Given the description of an element on the screen output the (x, y) to click on. 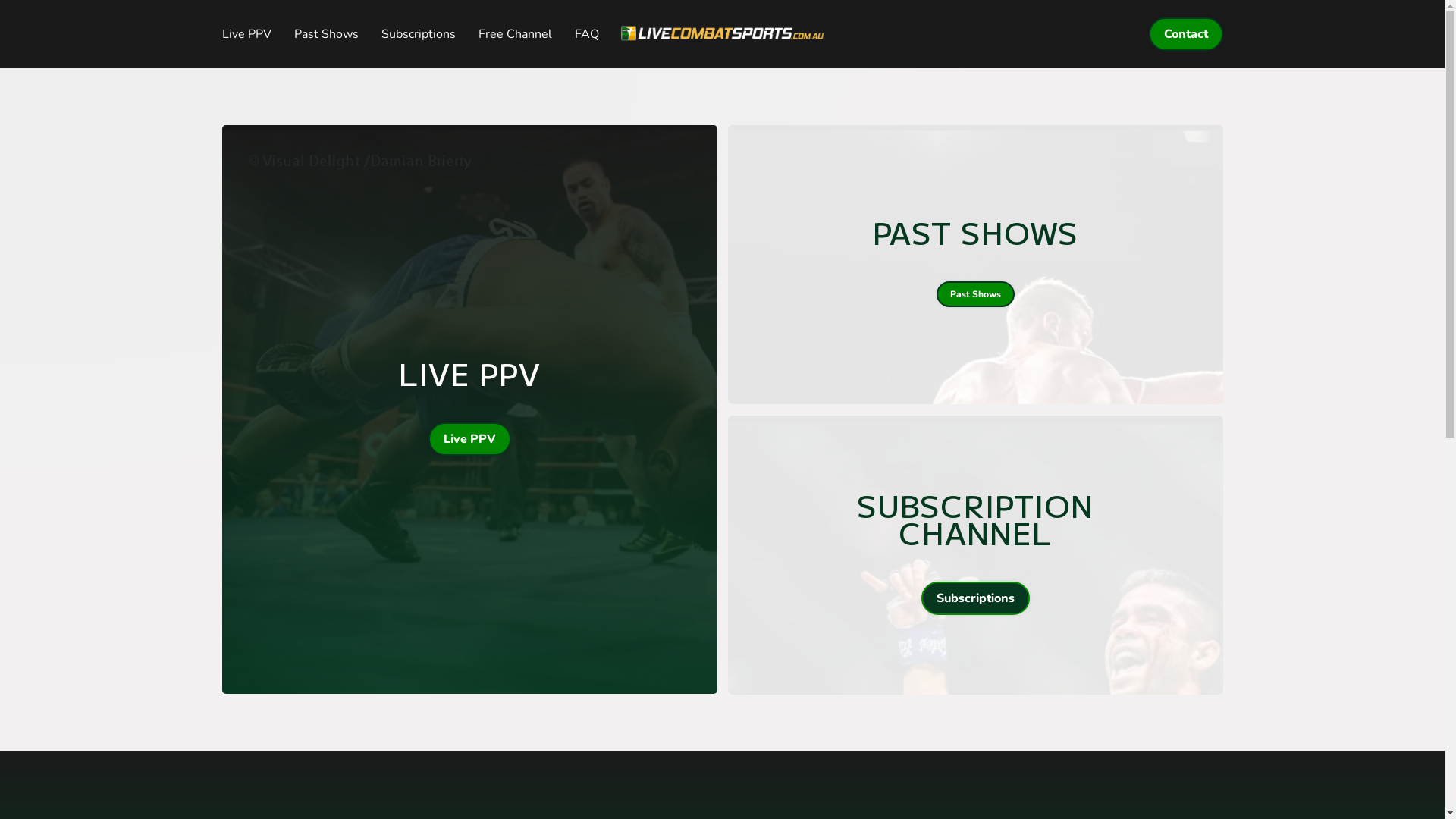
Live PPV Element type: text (246, 34)
Past Shows Element type: text (325, 34)
FAQ Element type: text (585, 34)
SUBSCRIPTION CHANNEL
Subscriptions Element type: text (975, 554)
Subscriptions Element type: text (418, 34)
PAST SHOWS
Past Shows Element type: text (975, 264)
LIVE PPV
Live PPV Element type: text (468, 409)
Free Channel Element type: text (515, 34)
Contact Element type: text (1185, 33)
